Given the description of an element on the screen output the (x, y) to click on. 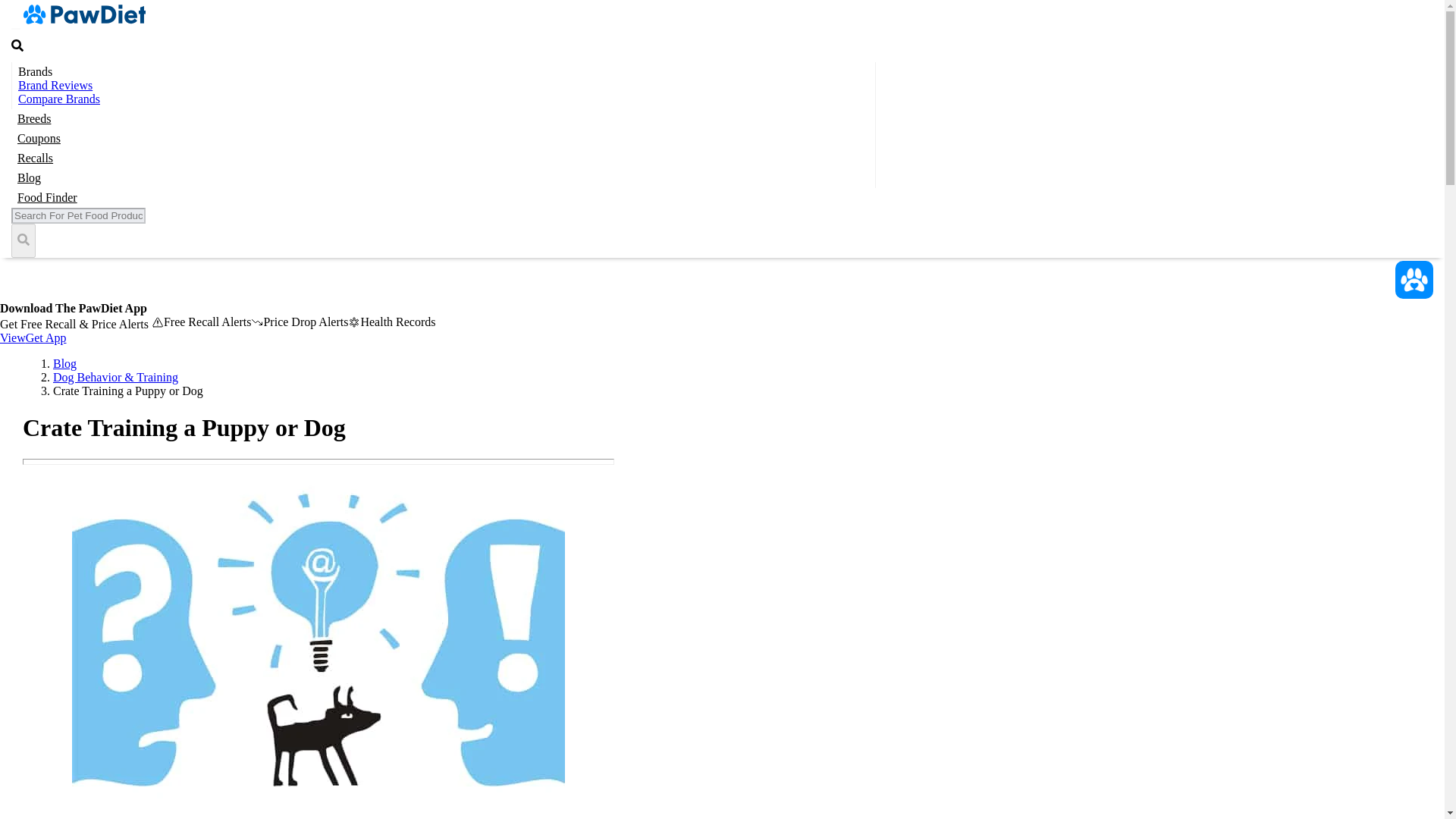
Recalls (34, 157)
Coupons (39, 137)
Compare Brands (58, 98)
Blog (28, 177)
ViewGet App (32, 337)
Brand Reviews (55, 84)
Breeds (33, 118)
Food Finder (47, 196)
Blog (64, 363)
